Given the description of an element on the screen output the (x, y) to click on. 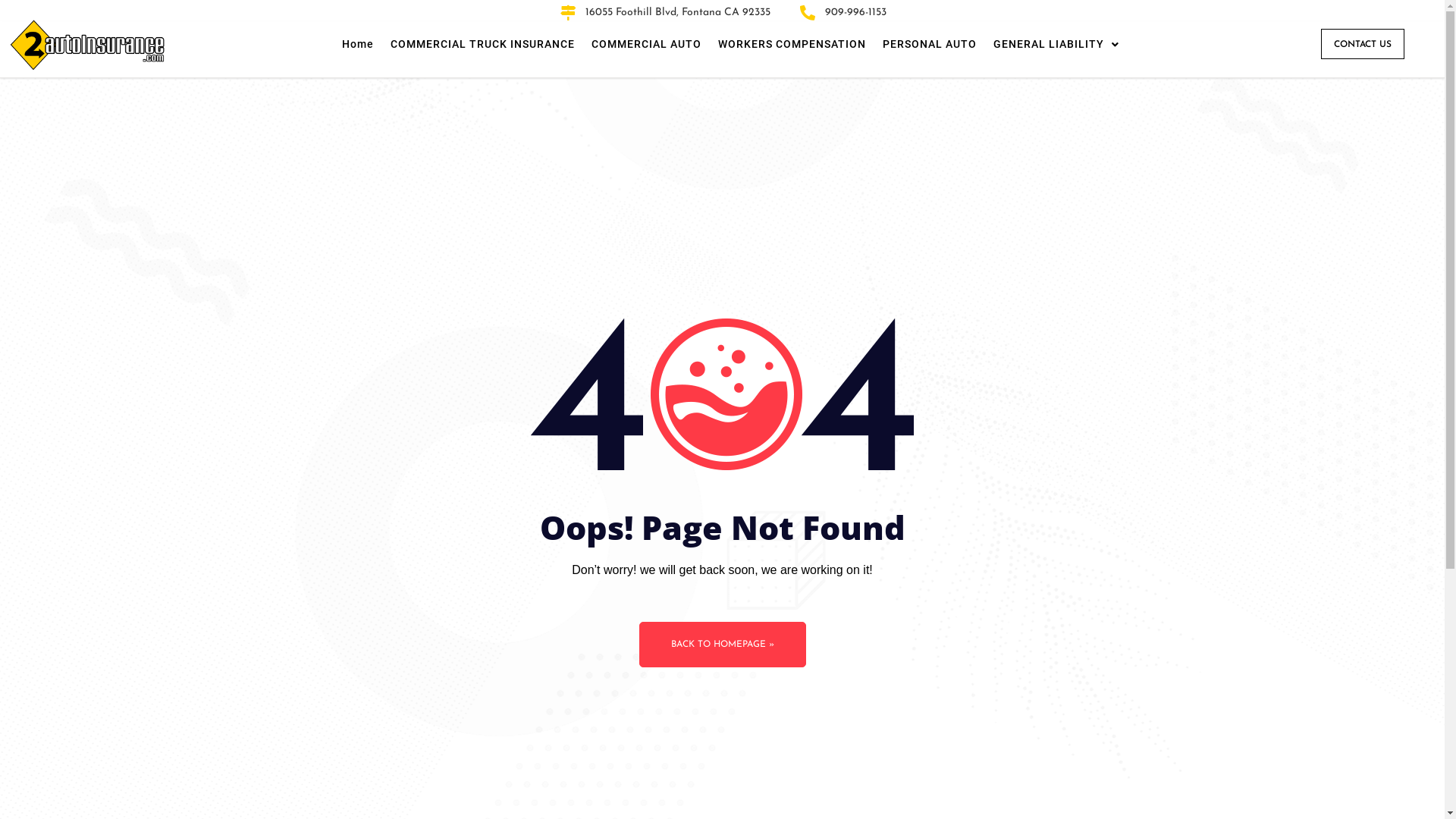
16055 Foothill Blvd, Fontana CA 92335 Element type: text (663, 12)
COMMERCIAL TRUCK INSURANCE Element type: text (482, 43)
PERSONAL AUTO Element type: text (929, 43)
GENERAL LIABILITY Element type: text (1055, 43)
Home Element type: text (357, 43)
909-996-1153 Element type: text (841, 12)
CONTACT US Element type: text (1362, 43)
COMMERCIAL AUTO Element type: text (646, 43)
WORKERS COMPENSATION Element type: text (791, 43)
